Given the description of an element on the screen output the (x, y) to click on. 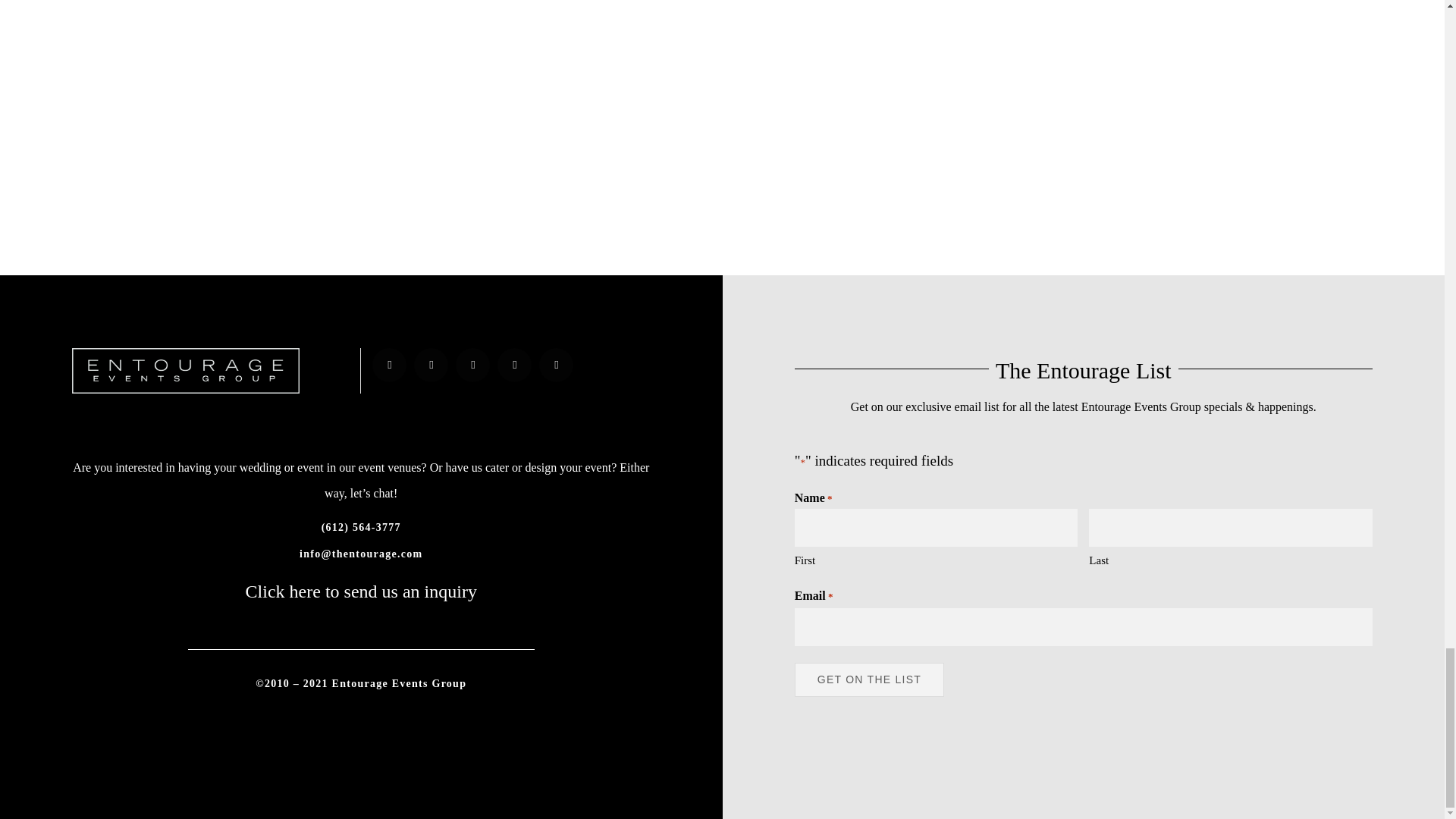
Pinterest (472, 365)
Instagram (430, 365)
LinkedIn (514, 365)
Facebook (389, 365)
entourage-logo-84px-white (185, 370)
GET ON THE LIST (868, 679)
Flickr (555, 365)
